Given the description of an element on the screen output the (x, y) to click on. 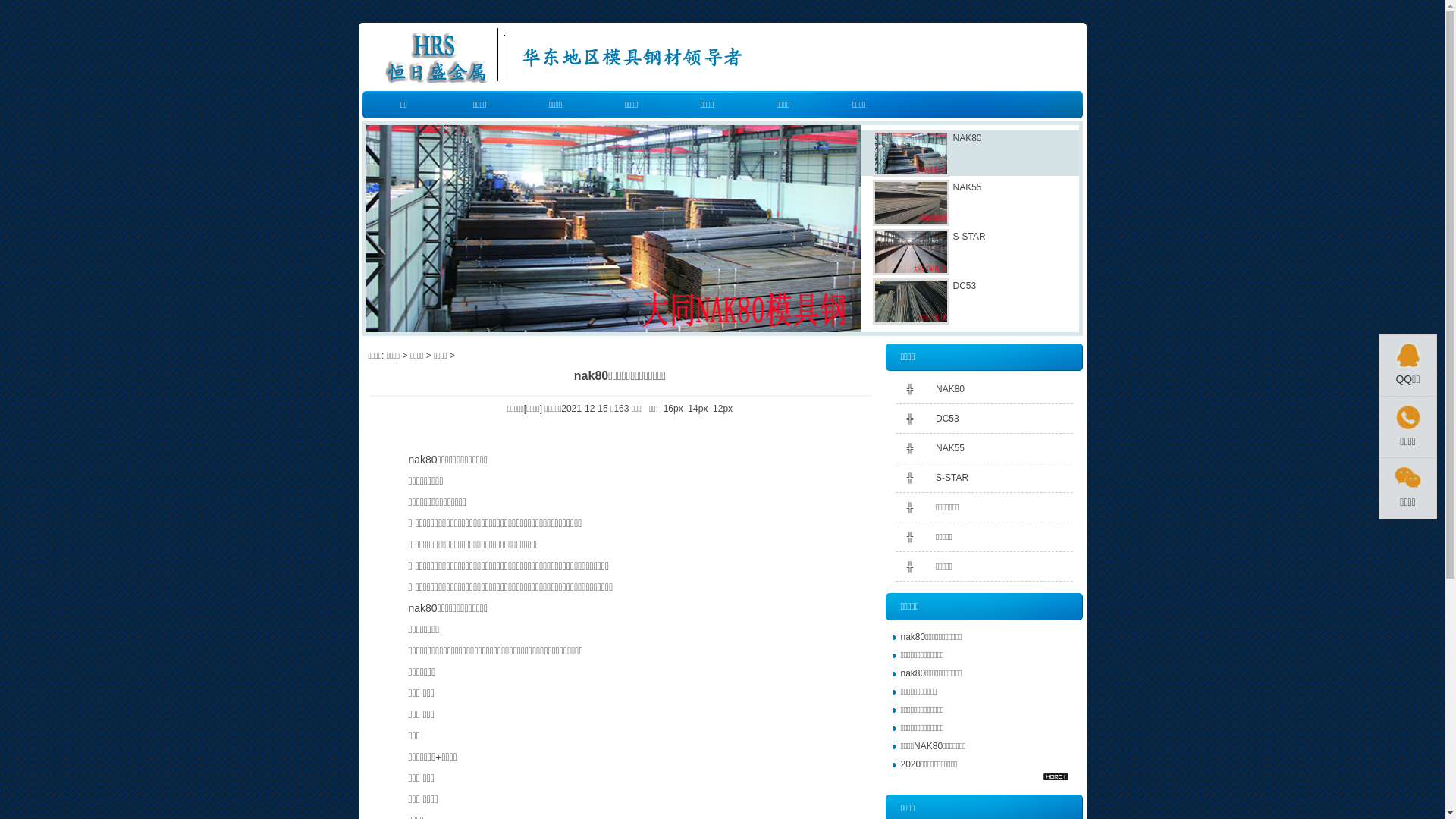
S-STAR Element type: text (951, 477)
NAK55 Element type: text (949, 447)
DC53 Element type: text (947, 418)
12px Element type: text (722, 408)
16px Element type: text (673, 408)
14px Element type: text (697, 408)
NAK80 Element type: text (949, 388)
